Given the description of an element on the screen output the (x, y) to click on. 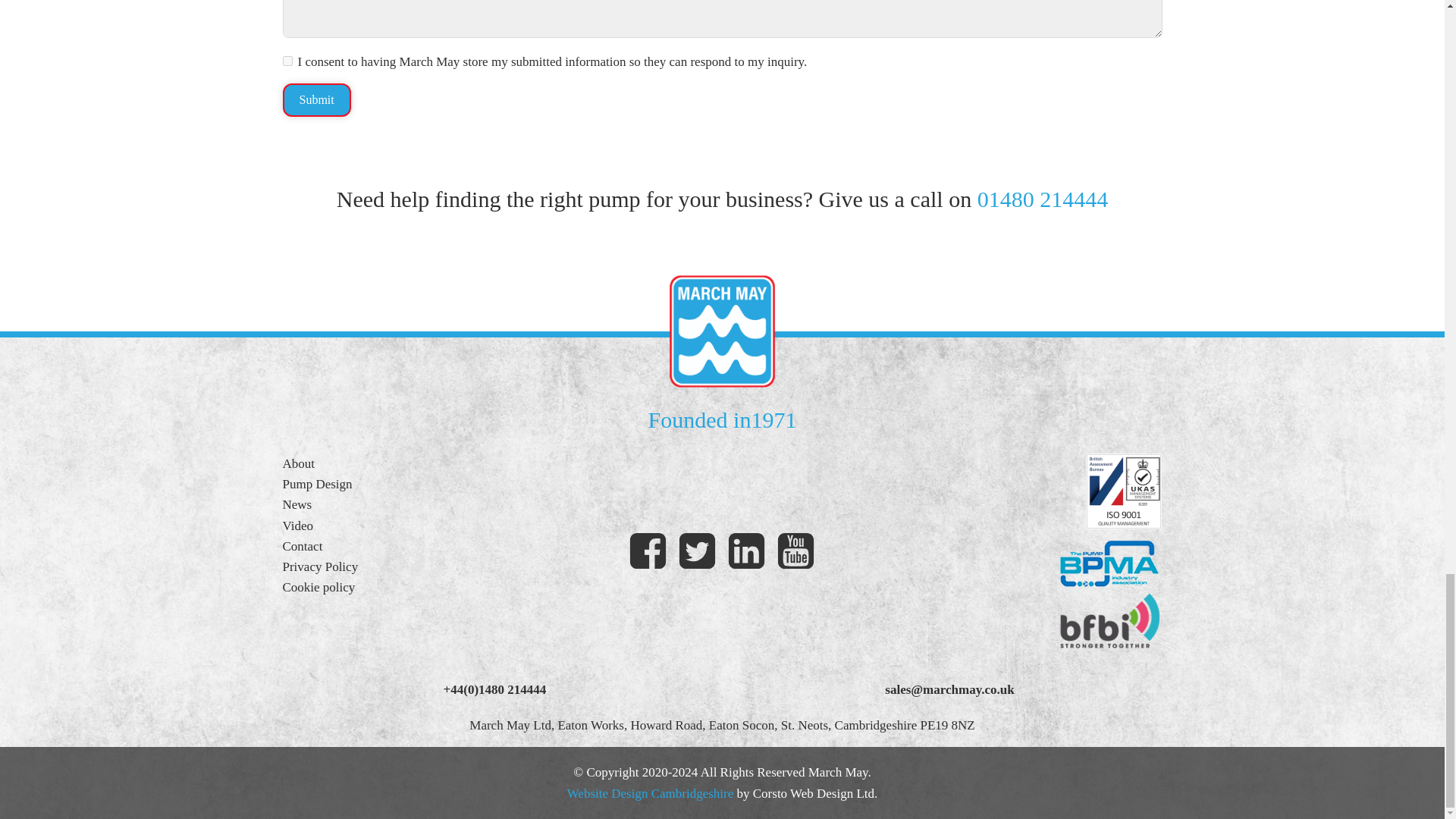
on (287, 61)
